Given the description of an element on the screen output the (x, y) to click on. 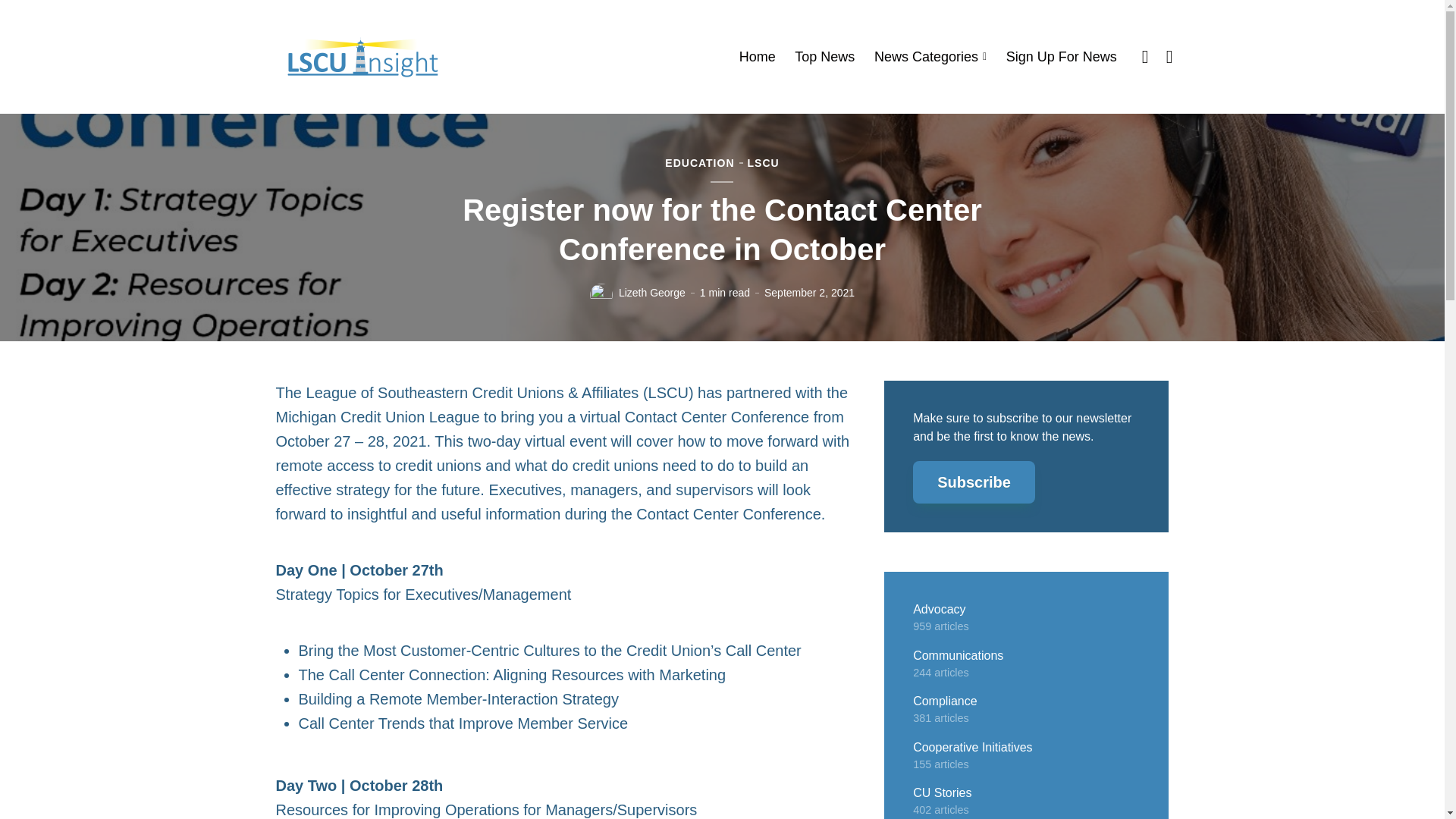
News Categories (931, 56)
Top News (824, 56)
Sign Up For News (1061, 56)
EDUCATION (699, 163)
Home (757, 56)
LSCU (763, 163)
